Given the description of an element on the screen output the (x, y) to click on. 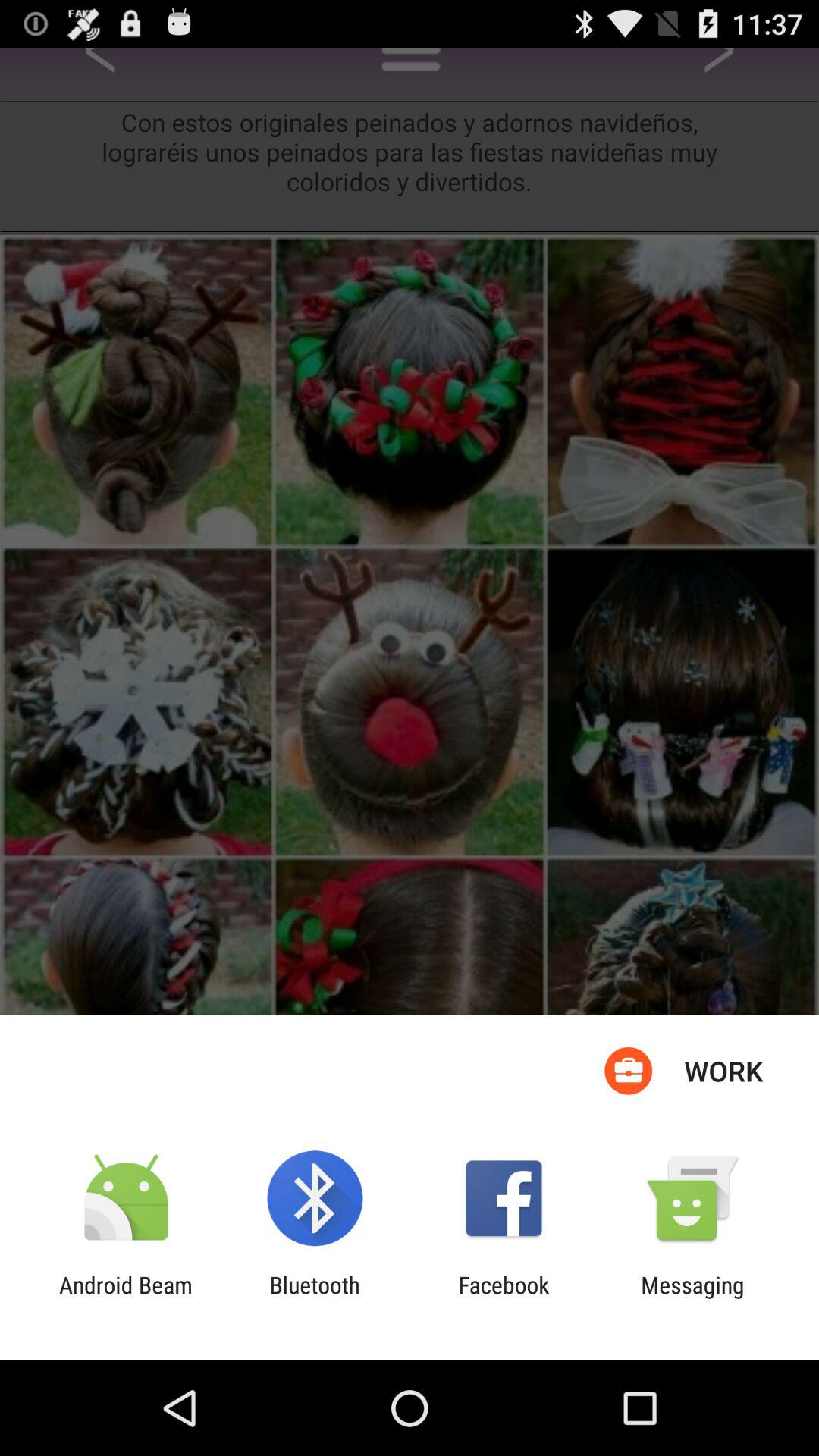
turn on app next to facebook (314, 1298)
